Given the description of an element on the screen output the (x, y) to click on. 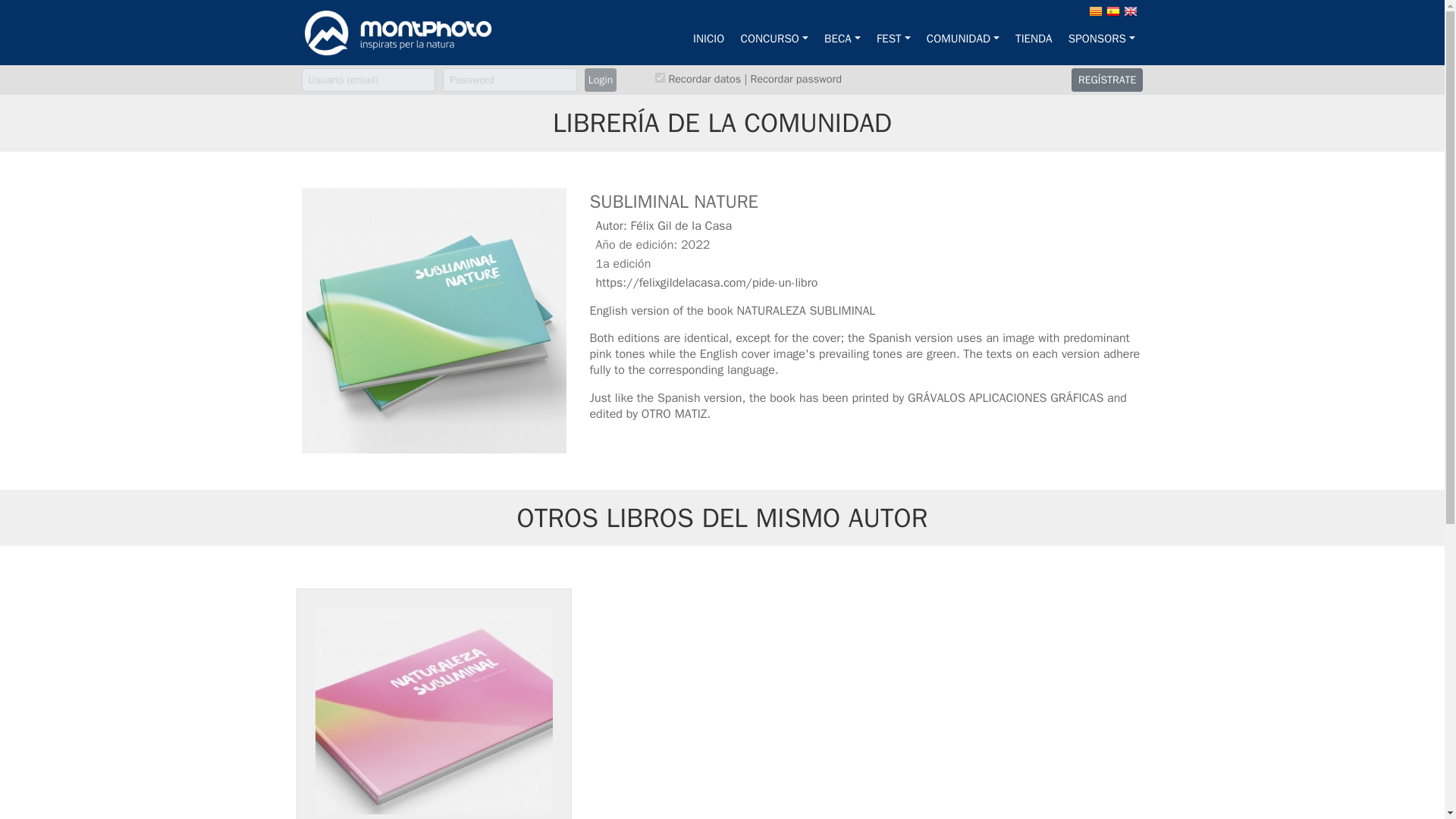
Recordar password (796, 78)
Login (600, 79)
TIENDA (1033, 38)
BECA (842, 38)
INICIO (708, 38)
FEST (893, 38)
si (660, 77)
CONCURSO (773, 38)
Login (600, 79)
COMUNIDAD (962, 38)
